Given the description of an element on the screen output the (x, y) to click on. 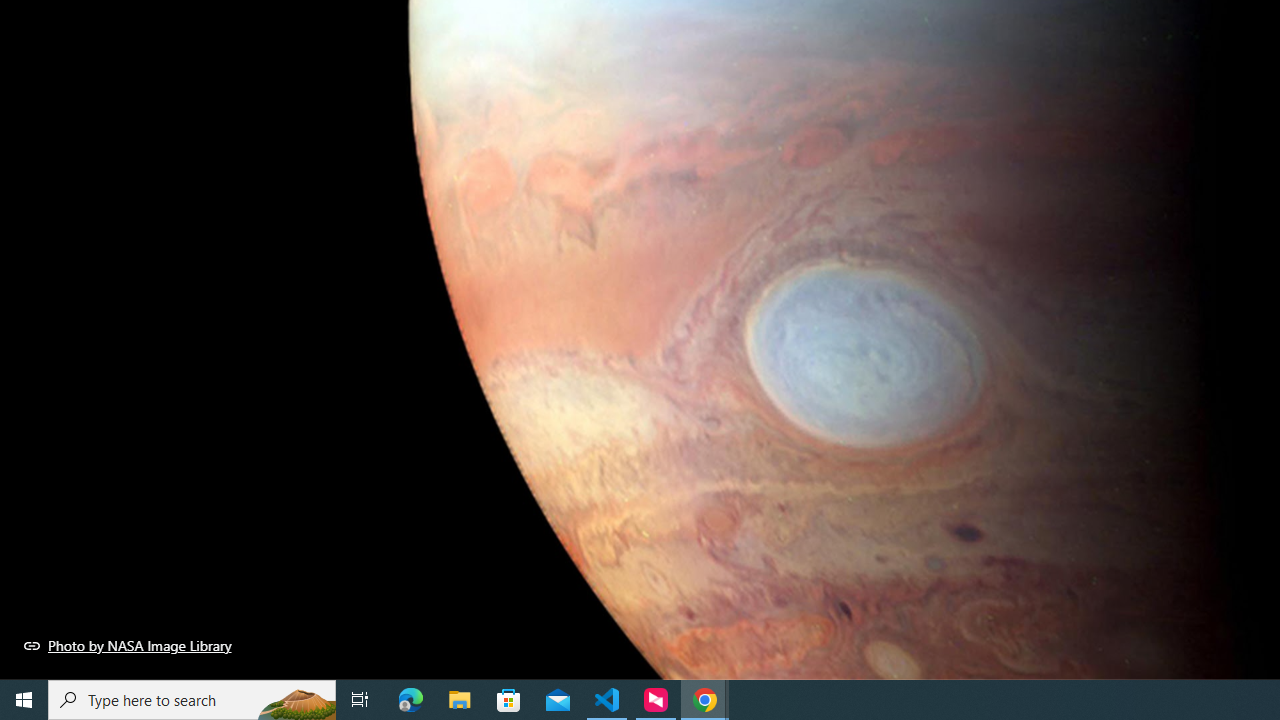
Photo by NASA Image Library (127, 645)
